Given the description of an element on the screen output the (x, y) to click on. 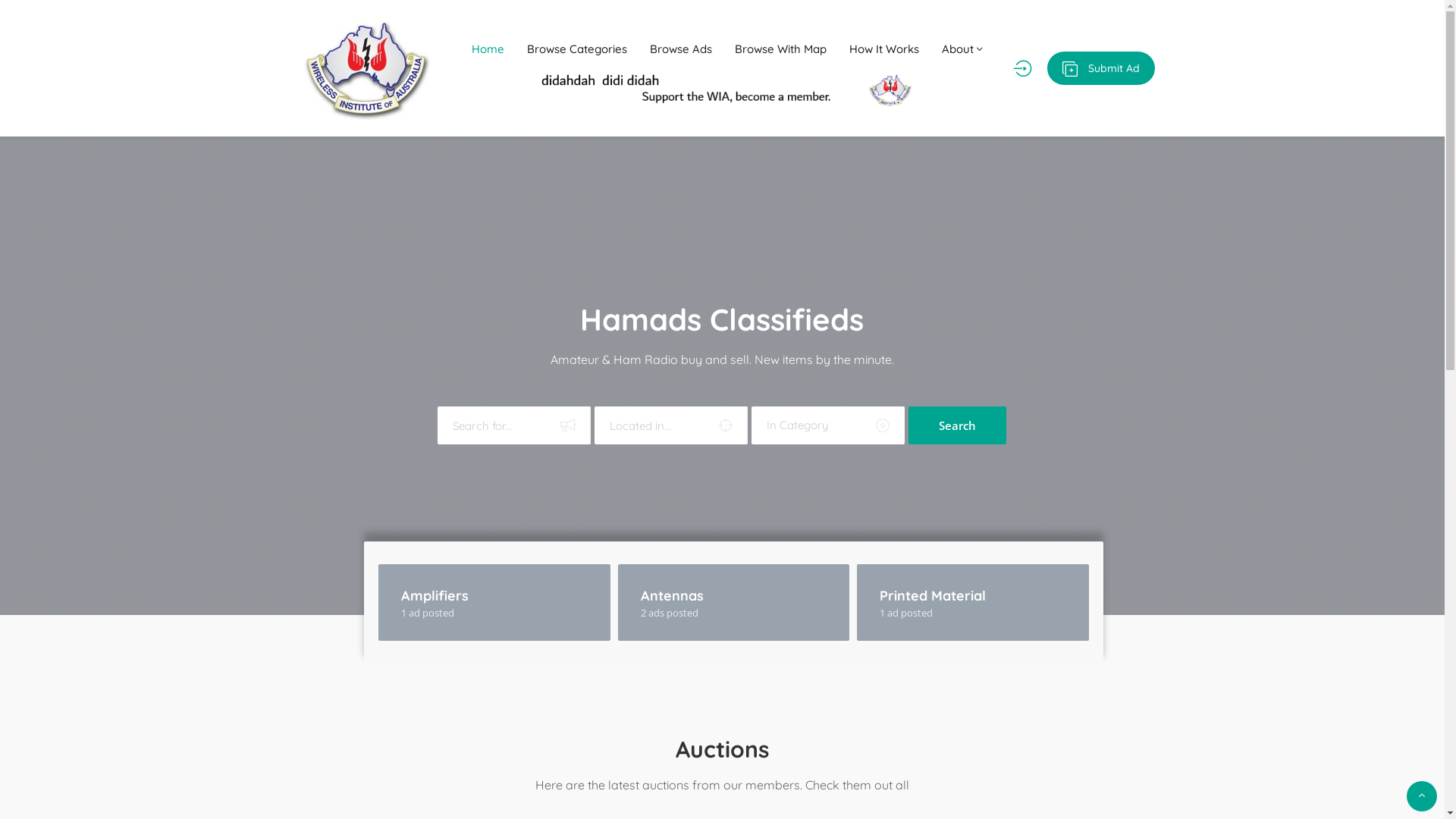
Browse Ads Element type: text (680, 48)
Search Element type: text (957, 425)
Browse Categories Element type: text (576, 48)
Antennas Element type: text (671, 595)
How It Works Element type: text (883, 48)
Amplifiers Element type: text (434, 595)
Browse With Map Element type: text (780, 48)
Home Element type: text (487, 48)
About Element type: text (962, 48)
Login / Register Element type: hover (1022, 68)
Submit Ad Element type: text (1100, 67)
Printed Material Element type: text (932, 595)
